Given the description of an element on the screen output the (x, y) to click on. 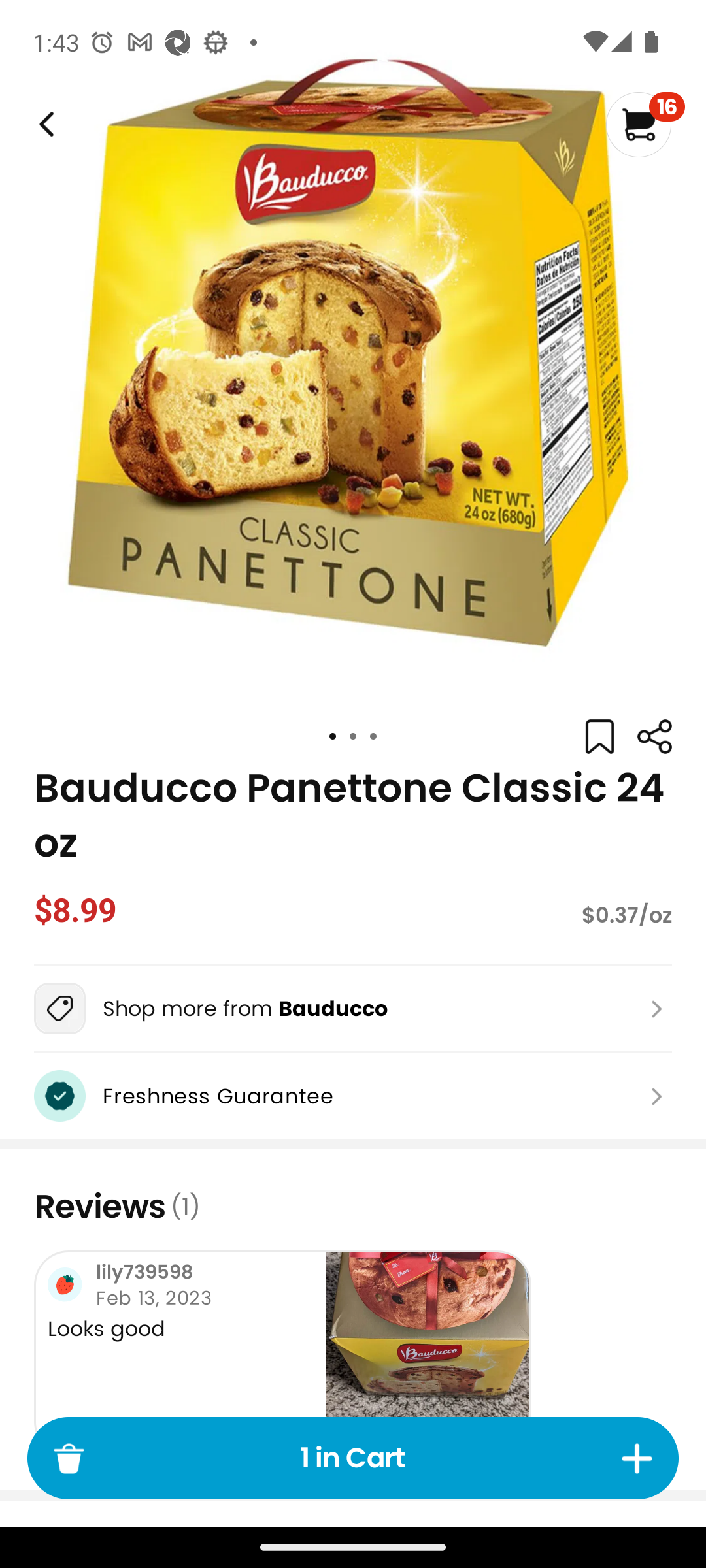
16 (644, 124)
Weee! (45, 124)
Weee! (653, 736)
Shop more from Bauducco Weee! (352, 1007)
Freshness Guarantee (352, 1095)
Reviews (1) (353, 1206)
lily739598 Feb 13, 2023 Looks good   (282, 1353)
1 in Cart (352, 1458)
